Given the description of an element on the screen output the (x, y) to click on. 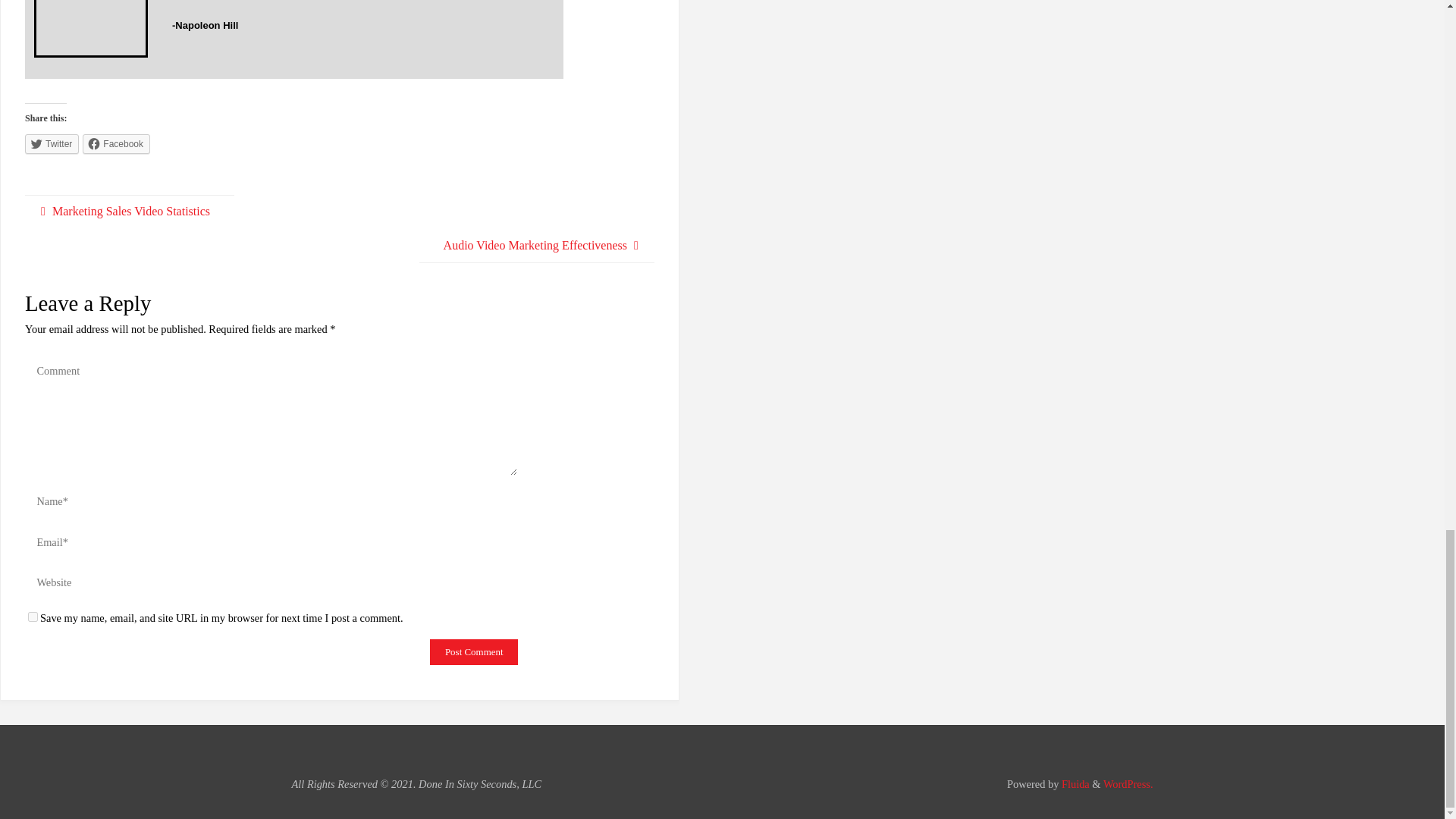
Post Comment (473, 652)
Twitter (51, 143)
yes (32, 616)
Facebook (115, 143)
Audio Video Marketing Effectiveness (536, 245)
Post Comment (473, 652)
Marketing Sales Video Statistics (129, 211)
Click to share on Facebook (115, 143)
Click to share on Twitter (51, 143)
